Given the description of an element on the screen output the (x, y) to click on. 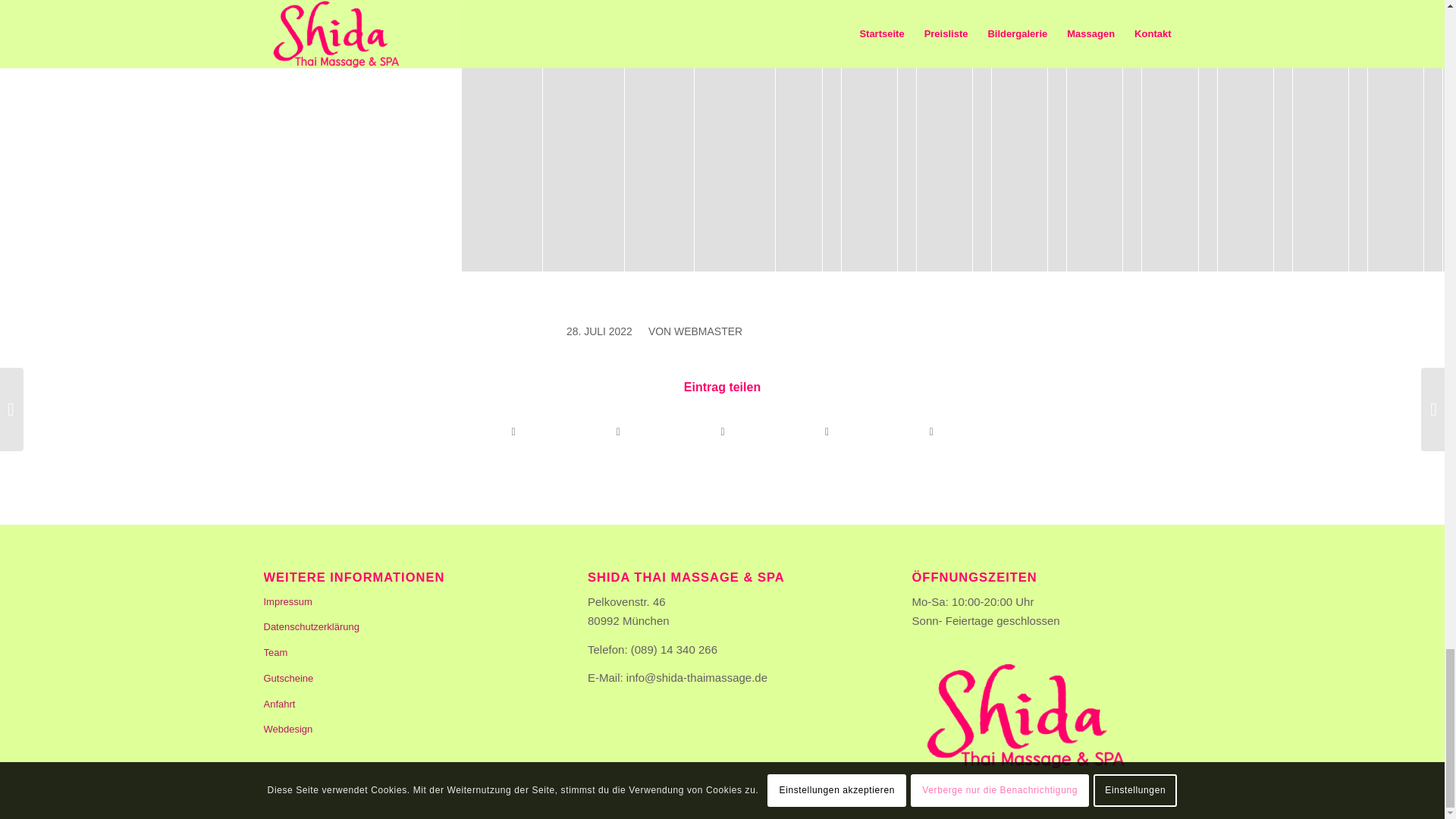
Anfahrt (397, 705)
Team (397, 653)
Webdesign (397, 729)
Impressum (397, 602)
Gutscheine (397, 679)
WEBMASTER (708, 331)
